Given the description of an element on the screen output the (x, y) to click on. 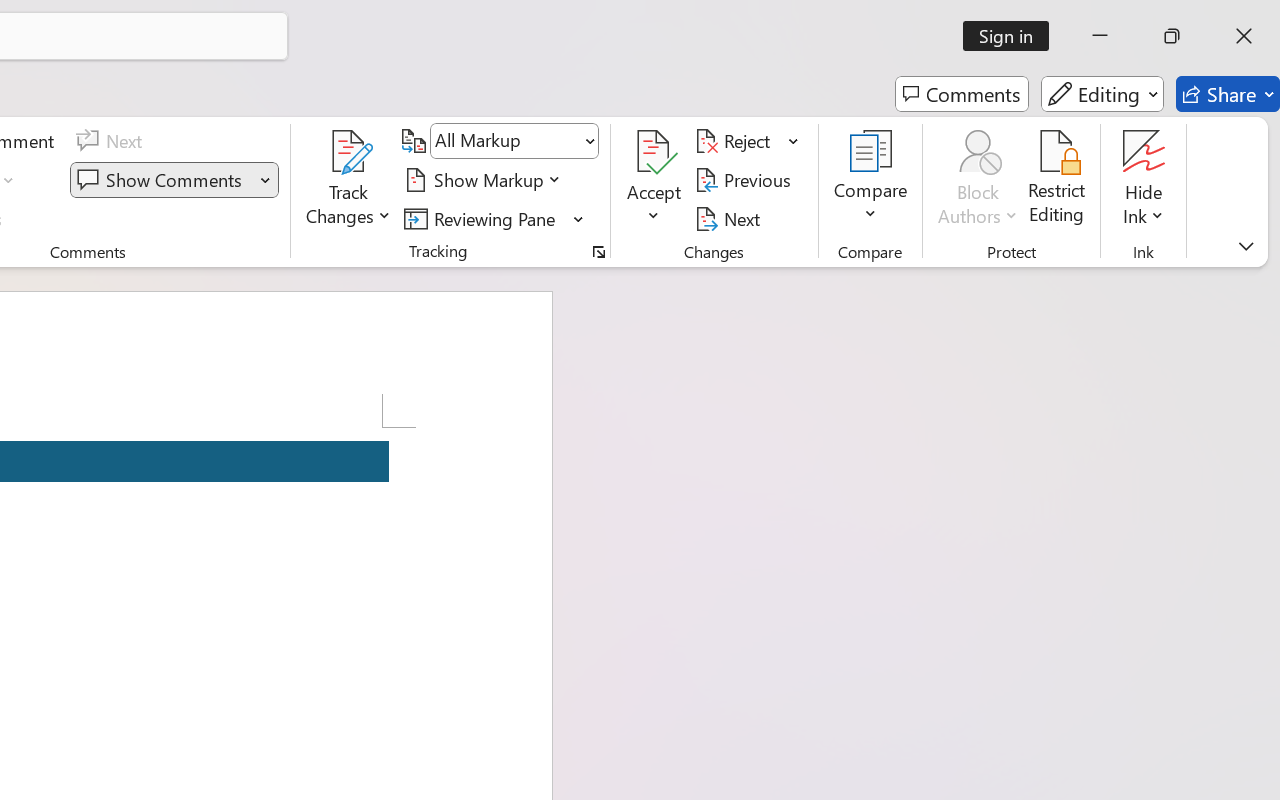
Sign in (1012, 35)
